Given the description of an element on the screen output the (x, y) to click on. 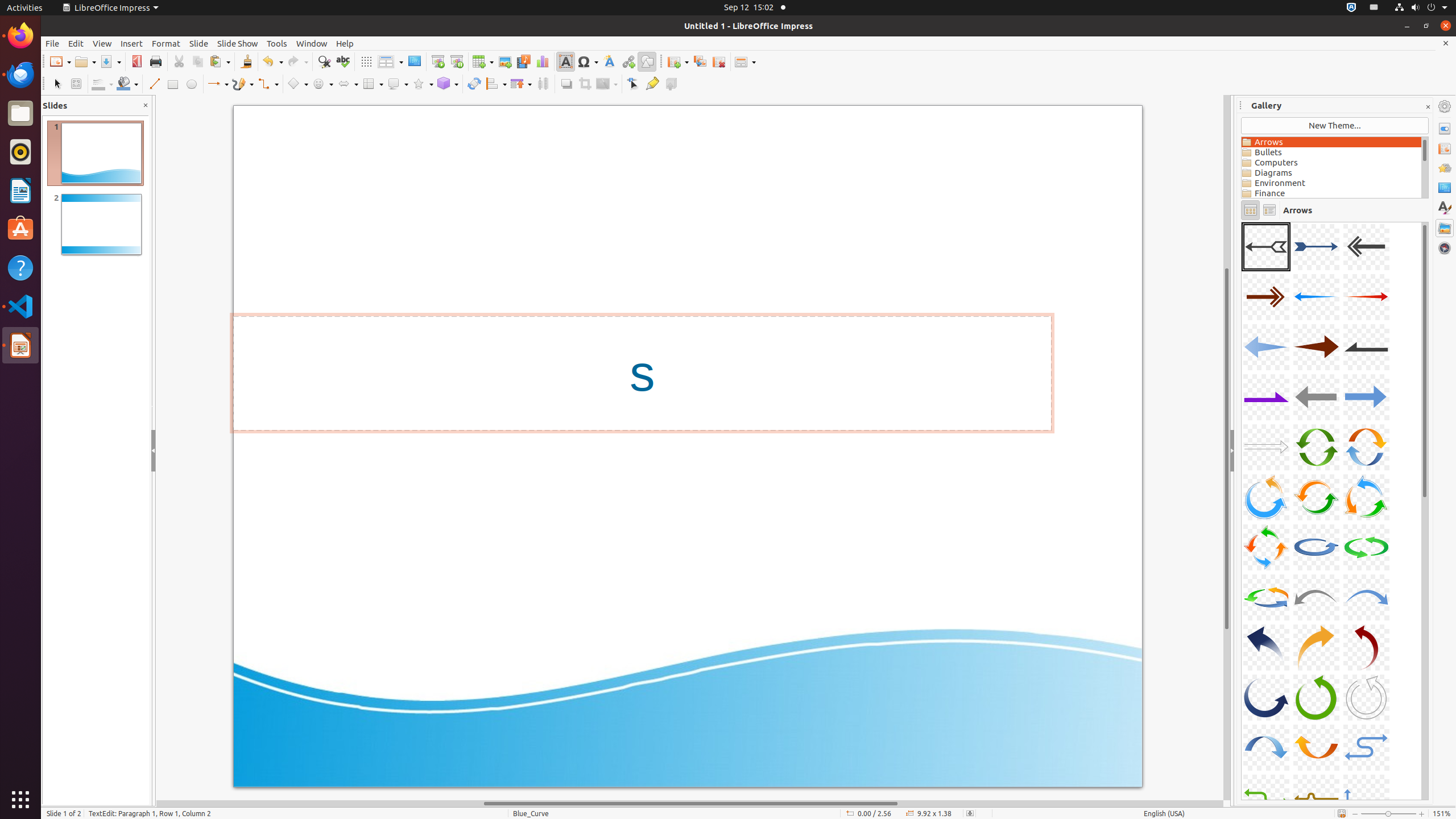
Open Element type: push-button (84, 61)
New Slide Element type: push-button (677, 61)
A24-CurvedArrow-LightBlue-Right Element type: list-item (1365, 596)
A32-CurvedArrow-Orange Element type: list-item (1315, 746)
A16-CircleArrow Element type: list-item (1265, 496)
